Given the description of an element on the screen output the (x, y) to click on. 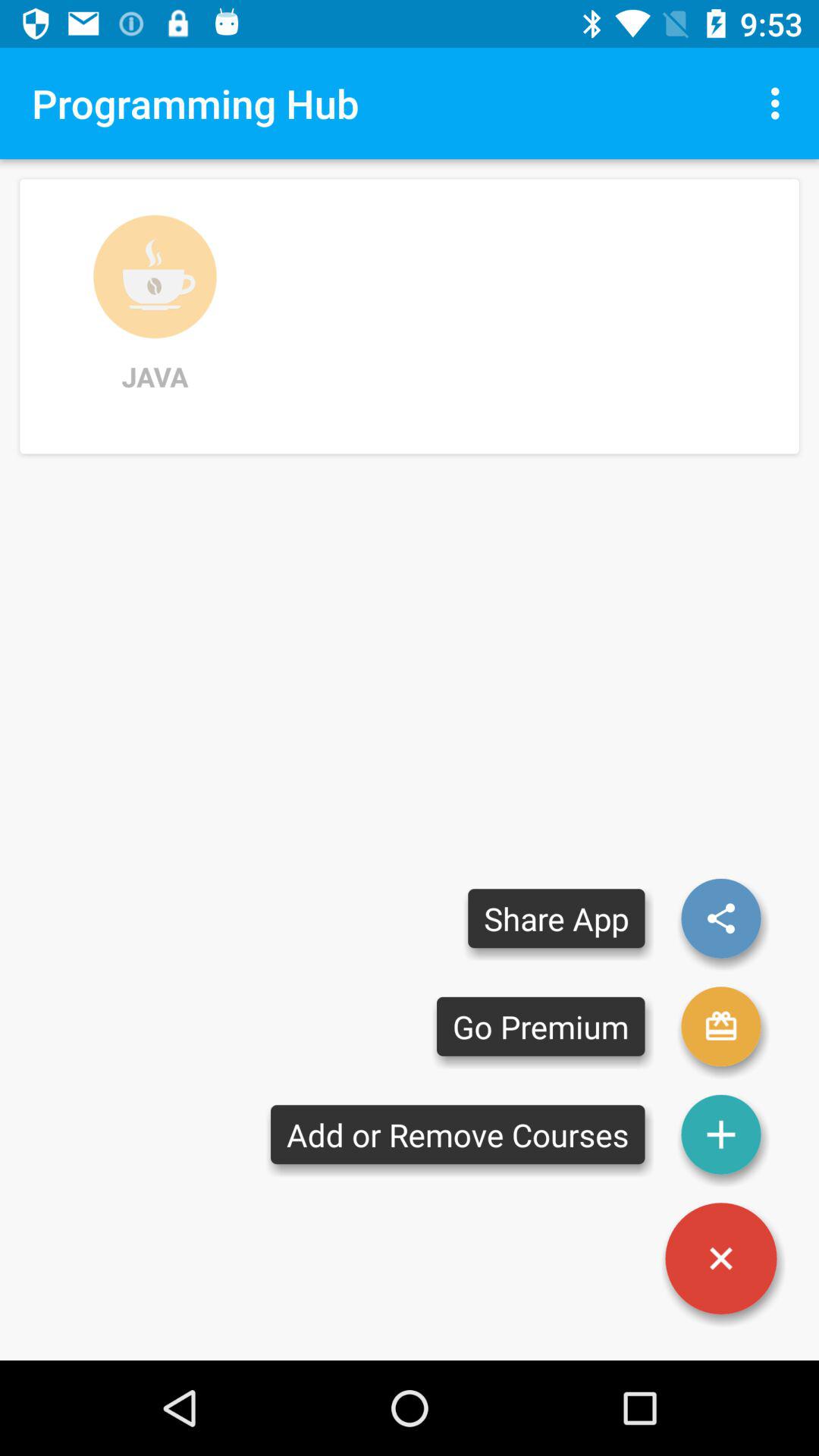
go premium (721, 1026)
